Given the description of an element on the screen output the (x, y) to click on. 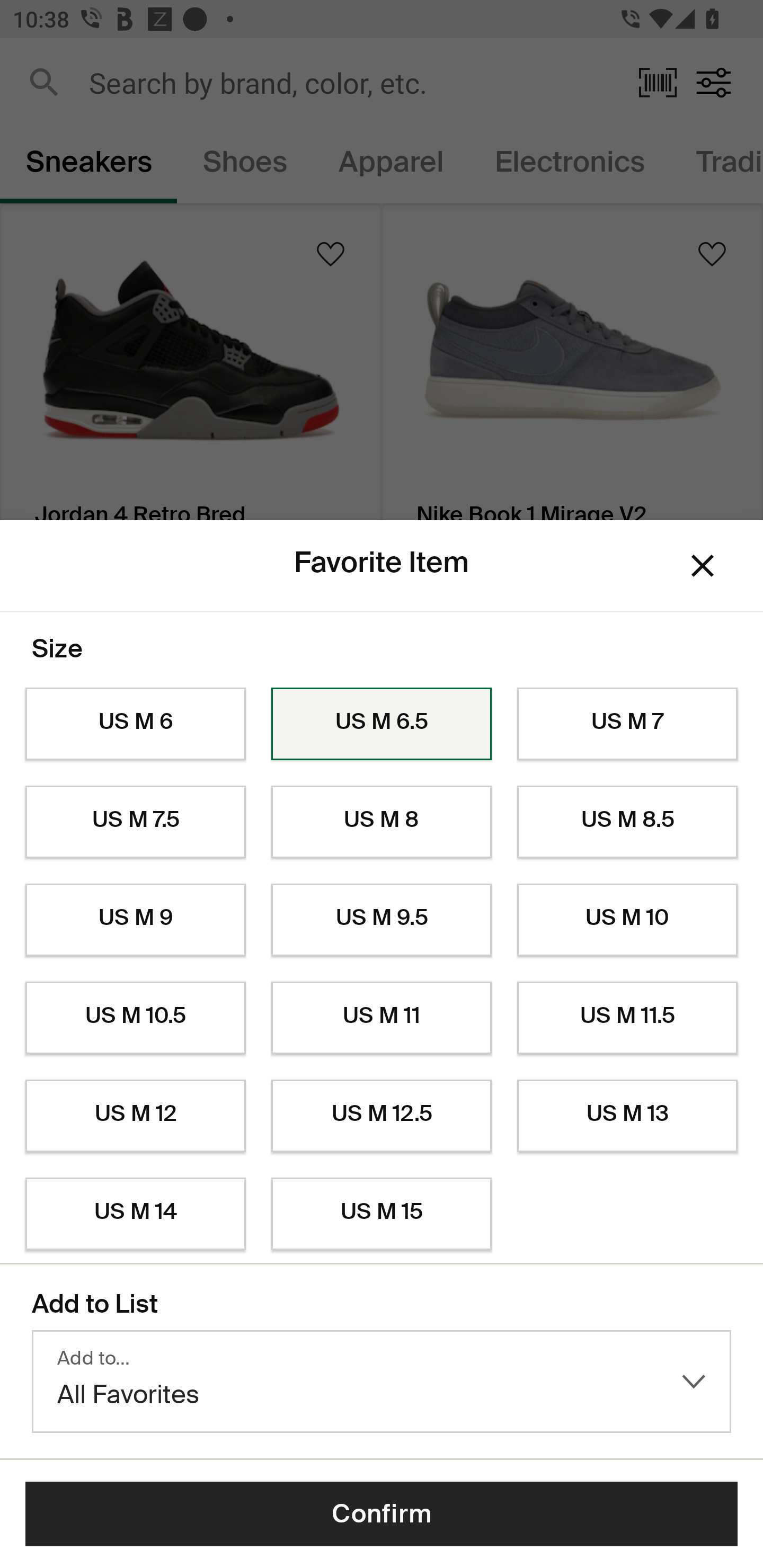
Dismiss (702, 564)
US M 6 (135, 724)
US M 6.5 (381, 724)
US M 7 (627, 724)
US M 7.5 (135, 822)
US M 8 (381, 822)
US M 8.5 (627, 822)
US M 9 (135, 919)
US M 9.5 (381, 919)
US M 10 (627, 919)
US M 10.5 (135, 1018)
US M 11 (381, 1018)
US M 11.5 (627, 1018)
US M 12 (135, 1116)
US M 12.5 (381, 1116)
US M 13 (627, 1116)
US M 14 (135, 1214)
US M 15 (381, 1214)
Add to… All Favorites (381, 1381)
Confirm (381, 1513)
